Given the description of an element on the screen output the (x, y) to click on. 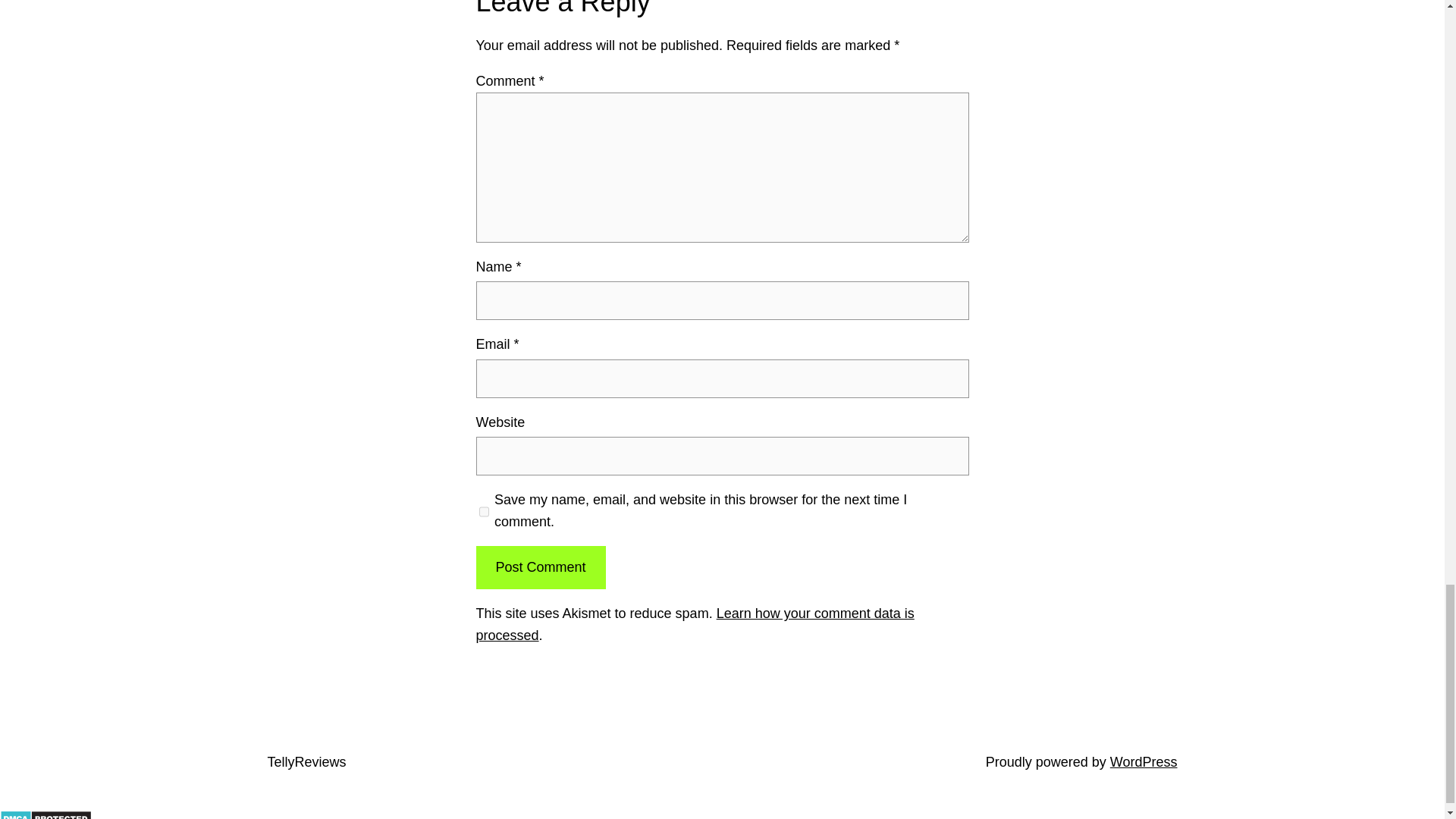
Learn how your comment data is processed (695, 624)
Post Comment (540, 567)
Post Comment (540, 567)
TellyReviews (306, 761)
WordPress (1143, 761)
